Given the description of an element on the screen output the (x, y) to click on. 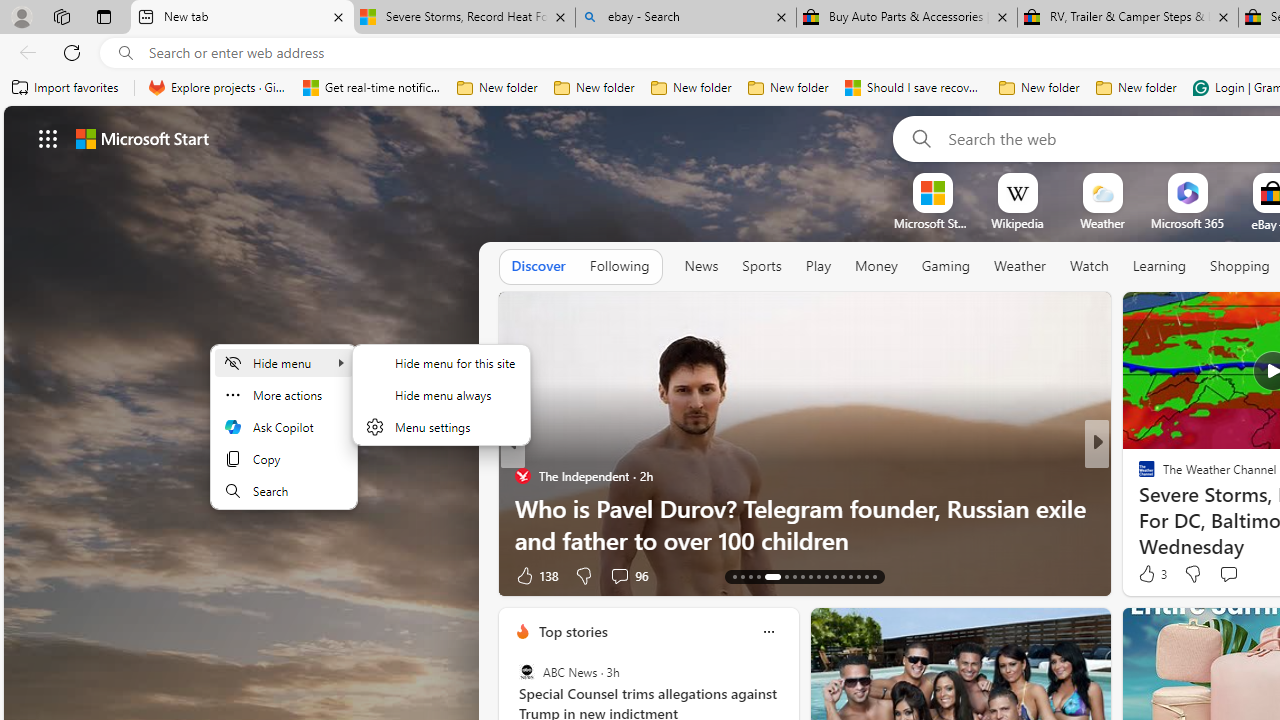
View comments 1 Comment (1241, 574)
Mini menu on text selection (283, 439)
View comments 96 Comment (619, 575)
Weather (1020, 265)
Mini menu on text selection (284, 426)
MUO (1138, 507)
News (701, 265)
99 Like (1149, 574)
Play (818, 267)
ETNT Mind+Body (1138, 475)
